Given the description of an element on the screen output the (x, y) to click on. 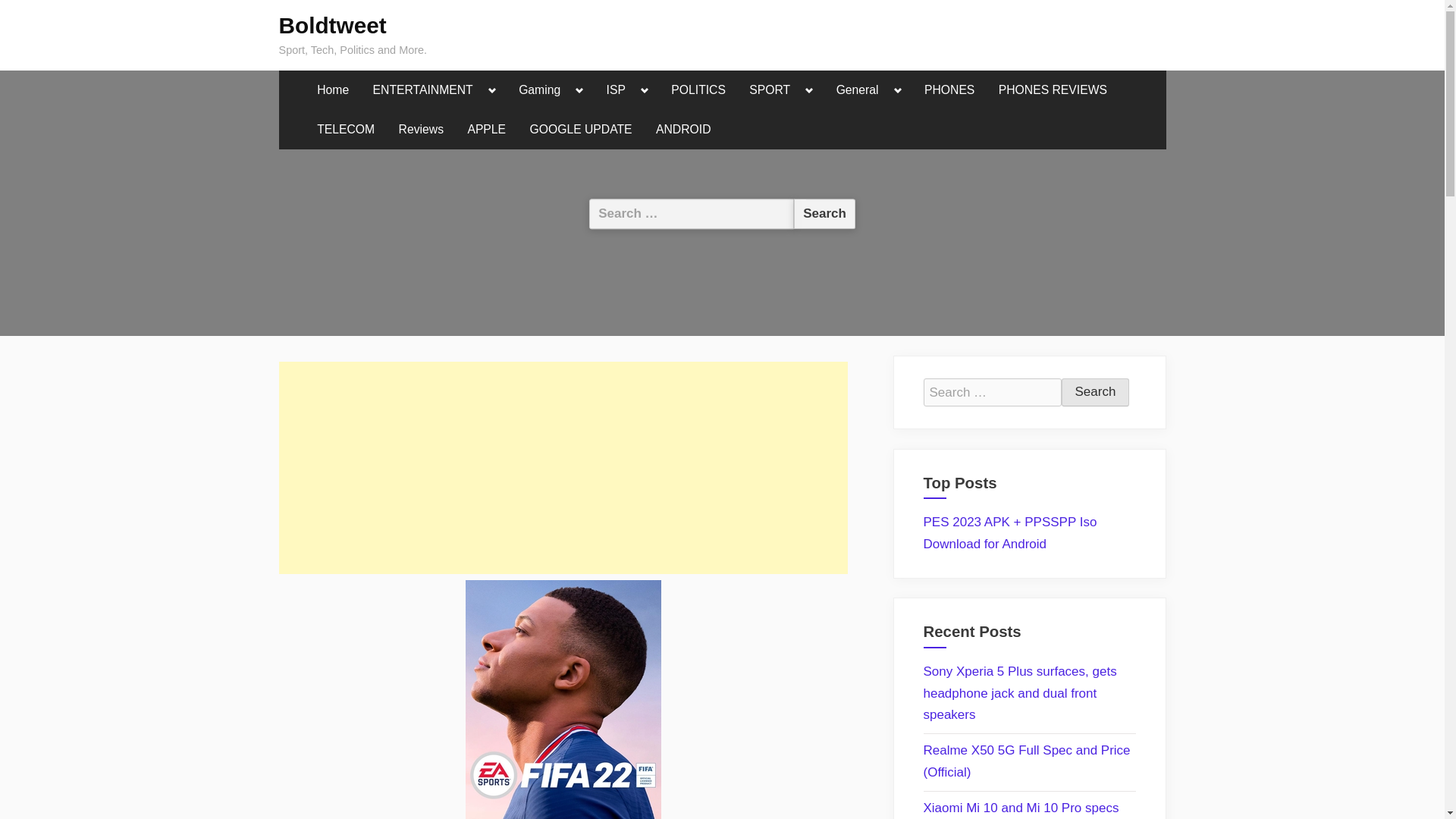
Search (824, 214)
Toggle sub-menu (644, 90)
Search (1095, 392)
Advertisement (563, 467)
Boldtweet (333, 25)
POLITICS (697, 90)
Toggle sub-menu (492, 90)
SPORT (769, 90)
Gaming (540, 90)
Home (332, 90)
ISP (615, 90)
Toggle sub-menu (897, 90)
Search (1095, 392)
ENTERTAINMENT (423, 90)
Search (824, 214)
